Given the description of an element on the screen output the (x, y) to click on. 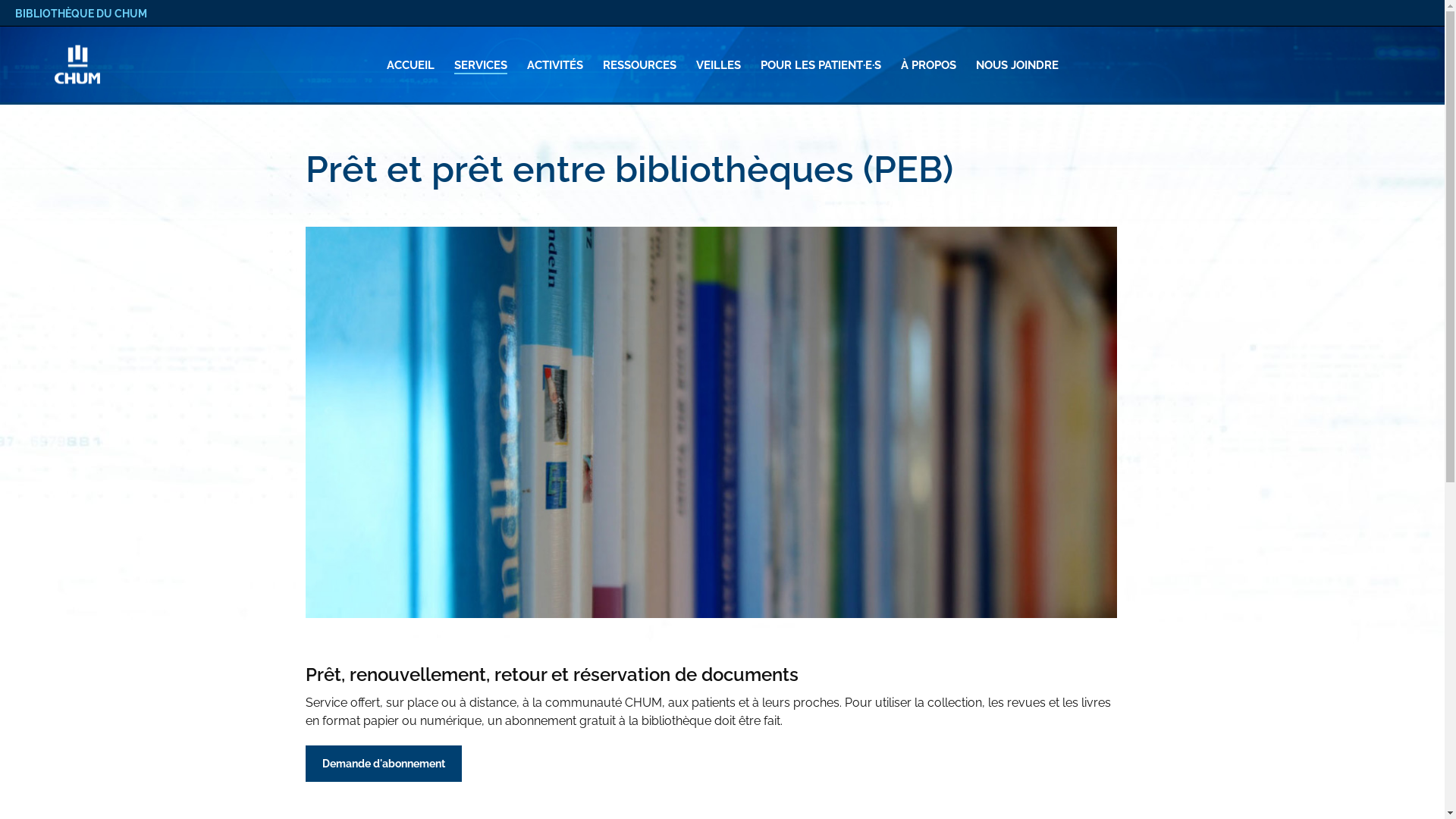
SERVICES Element type: text (480, 65)
pret-et-peb_1140 Element type: hover (710, 422)
ACCUEIL Element type: text (409, 65)
VEILLES Element type: text (717, 65)
NOUS JOINDRE Element type: text (1017, 65)
RESSOURCES Element type: text (639, 65)
Demande d'abonnement Element type: text (382, 763)
